Given the description of an element on the screen output the (x, y) to click on. 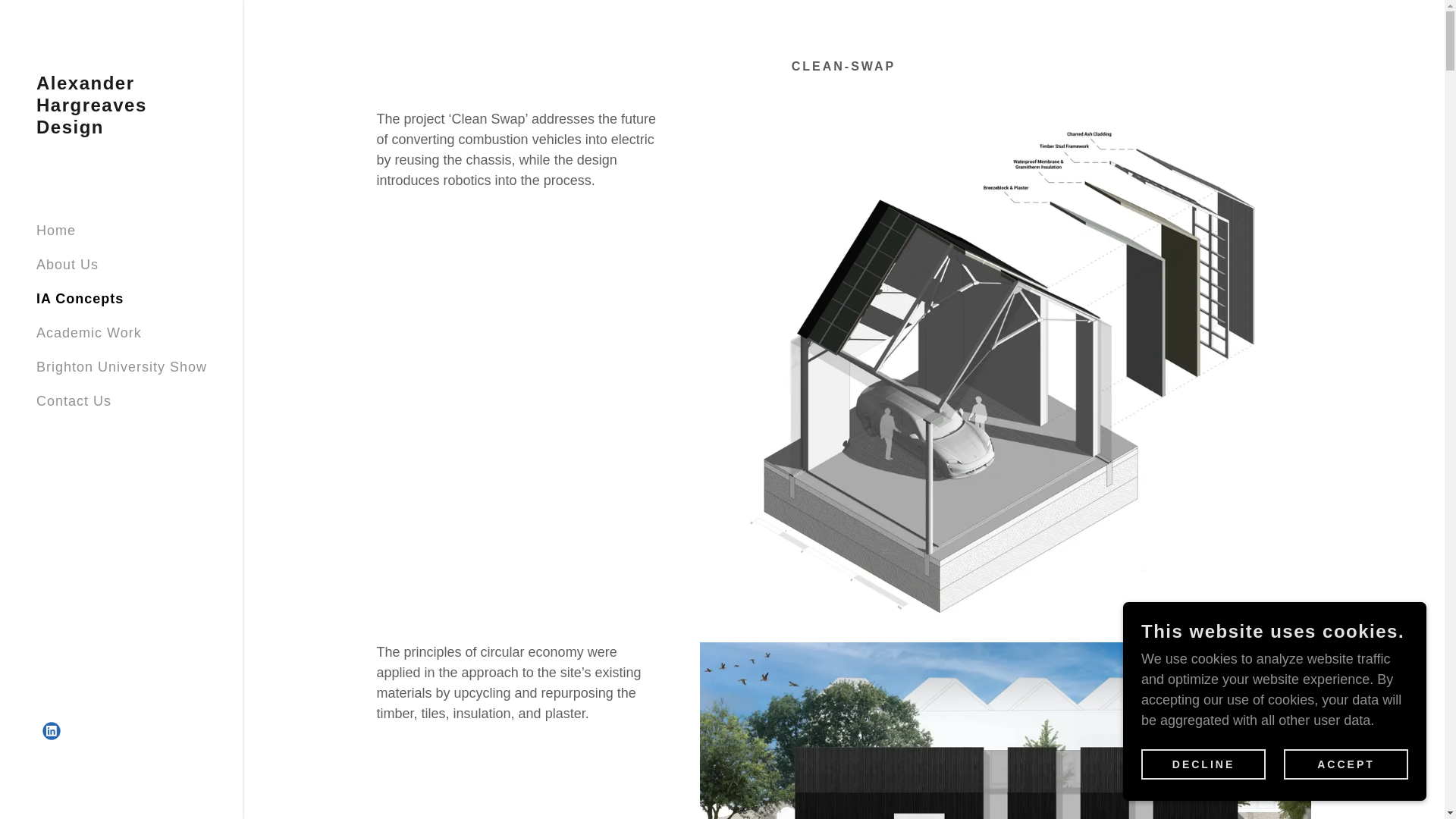
Alexander Hargreaves Design (121, 128)
ACCEPT (1345, 764)
Academic Work (88, 332)
IA Concepts (79, 298)
About Us (67, 264)
Brighton University Show (121, 366)
Contact Us (74, 400)
Alexander Hargreaves Design (121, 128)
Home (55, 230)
DECLINE (1203, 764)
